Given the description of an element on the screen output the (x, y) to click on. 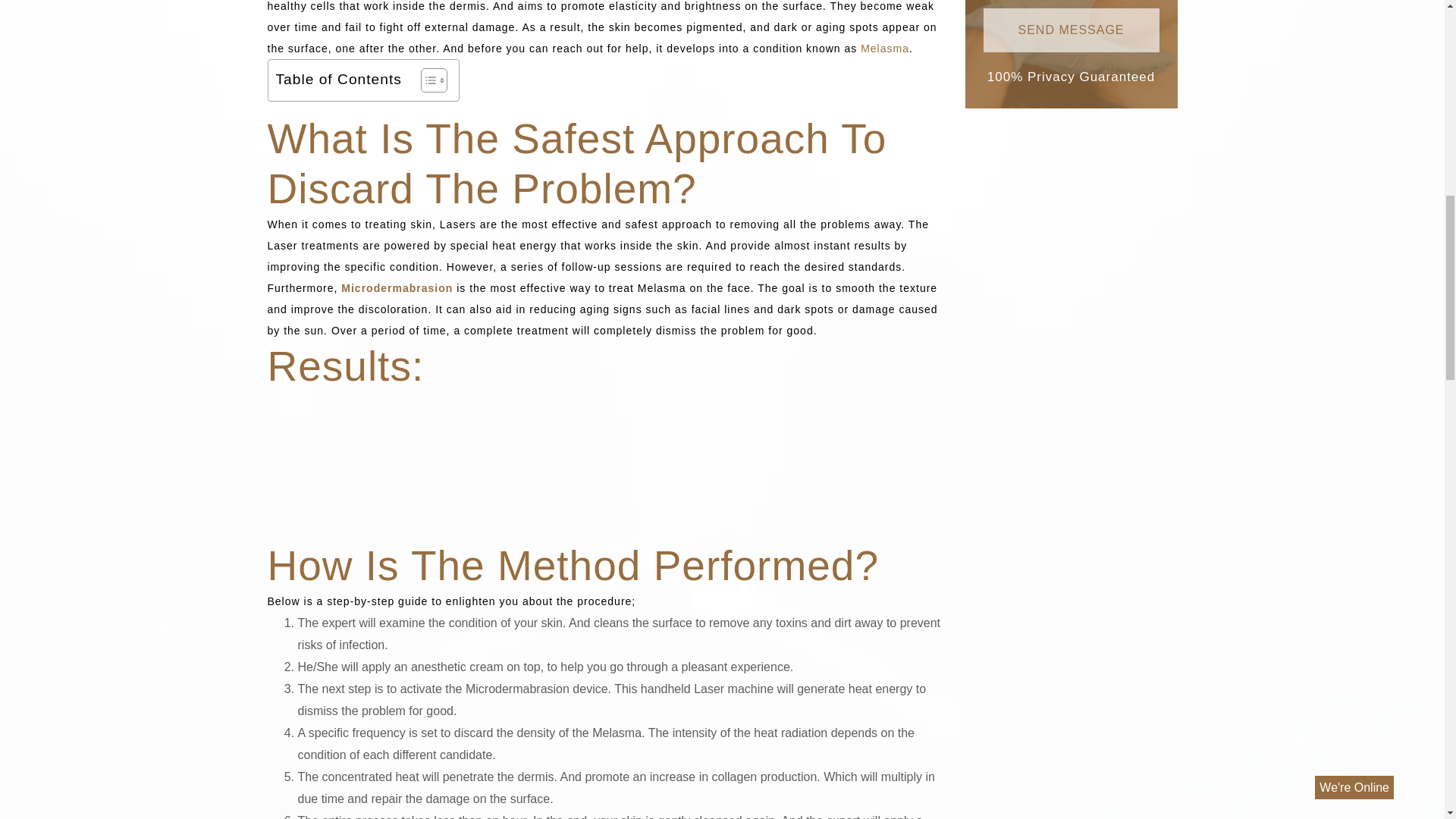
Send message (1070, 30)
